Given the description of an element on the screen output the (x, y) to click on. 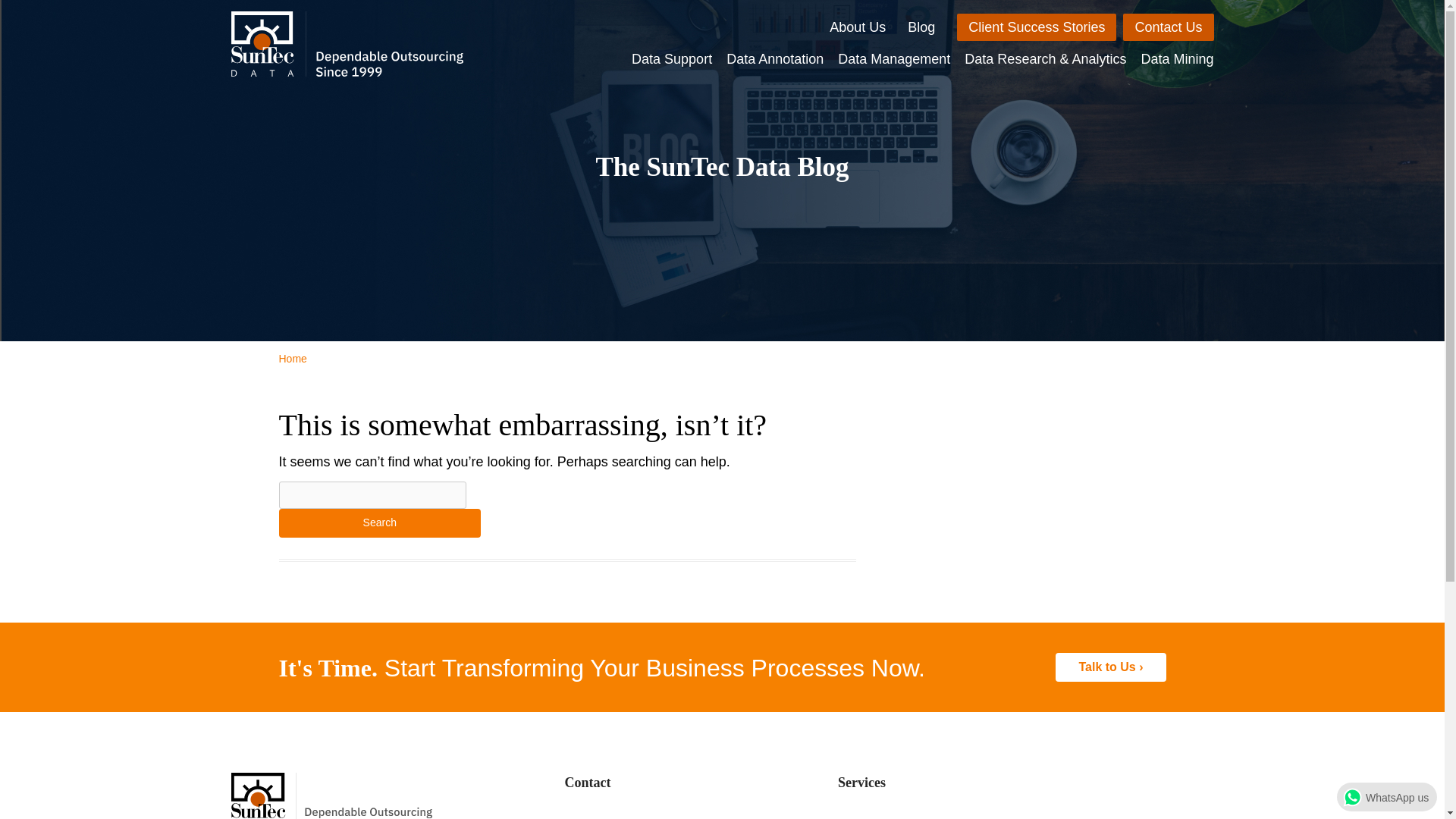
Data Management (894, 56)
Data Support (671, 56)
Blog (920, 27)
Search (380, 522)
Client Success Stories (1036, 26)
Contact Us (1167, 26)
Data Mining (1176, 56)
About Us (857, 27)
Data Annotation (775, 56)
